Given the description of an element on the screen output the (x, y) to click on. 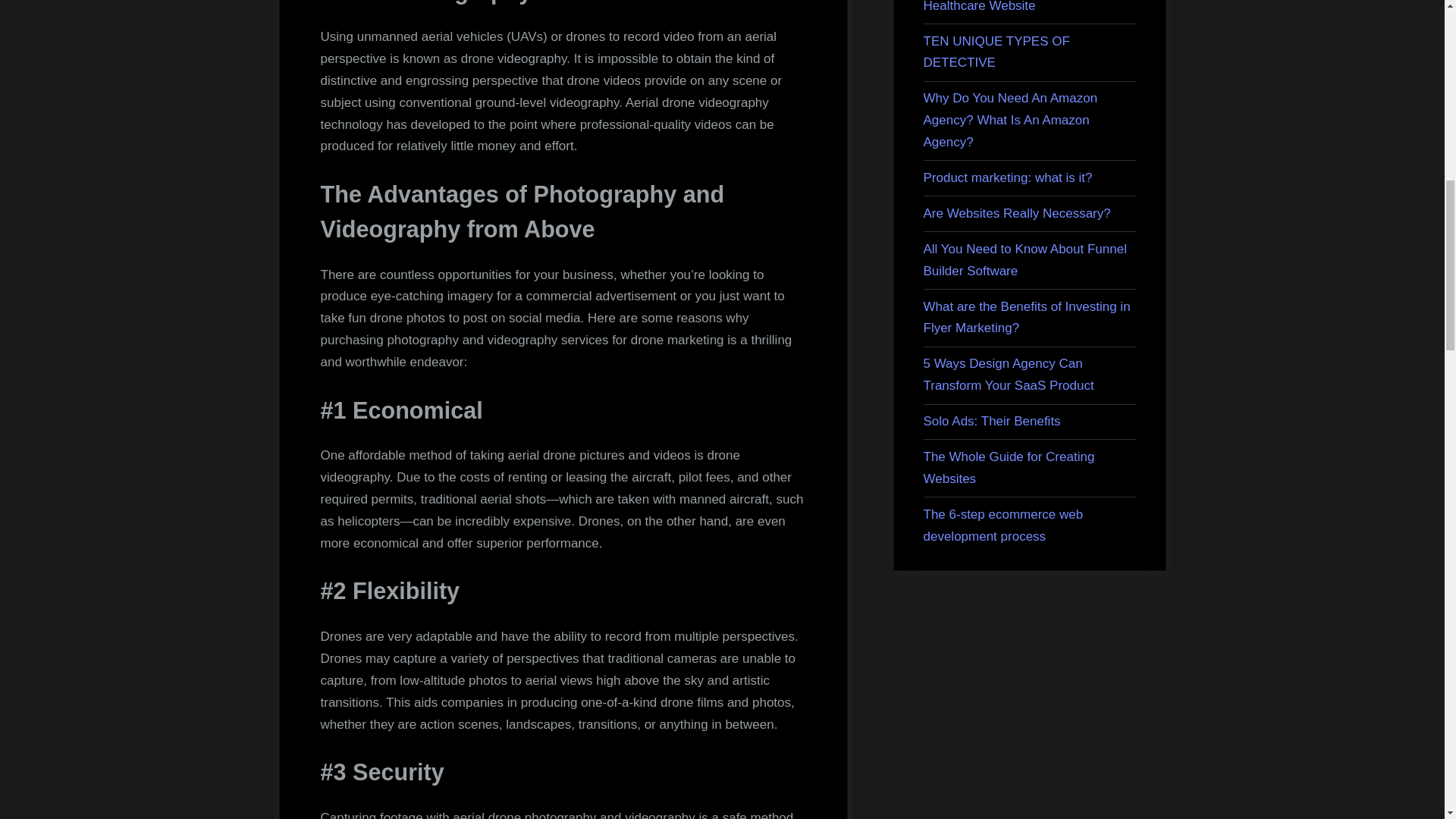
Current Advice on Building a Healthcare Website (1004, 6)
All You Need to Know About Funnel Builder Software (1024, 259)
Product marketing: what is it? (1008, 177)
Why Do You Need An Amazon Agency? What Is An Amazon Agency? (1010, 119)
What are the Benefits of Investing in Flyer Marketing? (1027, 317)
The Whole Guide for Creating Websites (1008, 467)
5 Ways Design Agency Can Transform Your SaaS Product (1008, 374)
Solo Ads: Their Benefits (992, 421)
Are Websites Really Necessary? (1016, 213)
The 6-step ecommerce web development process (1003, 524)
TEN UNIQUE TYPES OF DETECTIVE (996, 52)
